Given the description of an element on the screen output the (x, y) to click on. 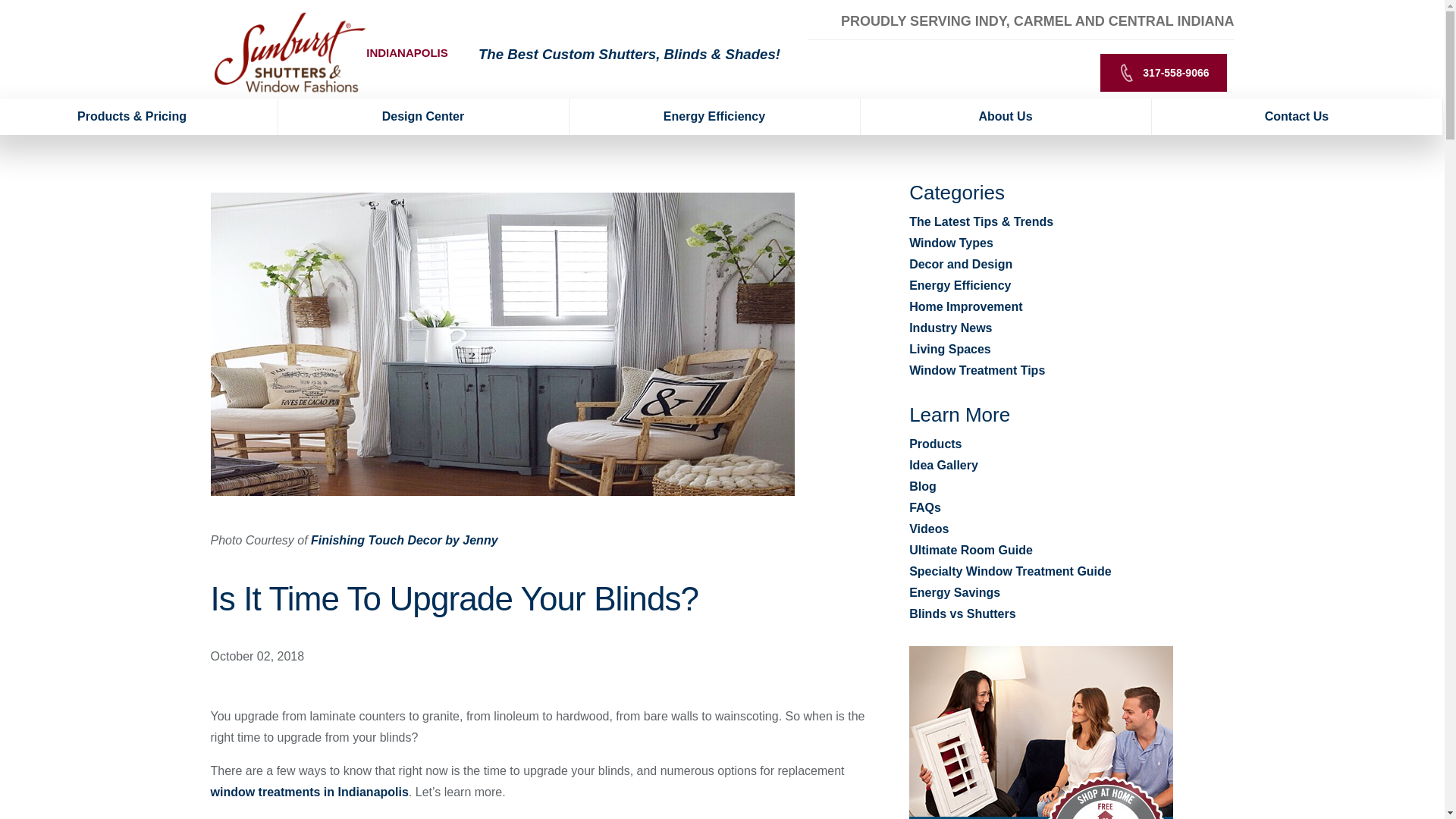
Sunburst Shutters Indianapolis Home (290, 52)
Design Center (423, 116)
317-558-9066 (1162, 72)
